Given the description of an element on the screen output the (x, y) to click on. 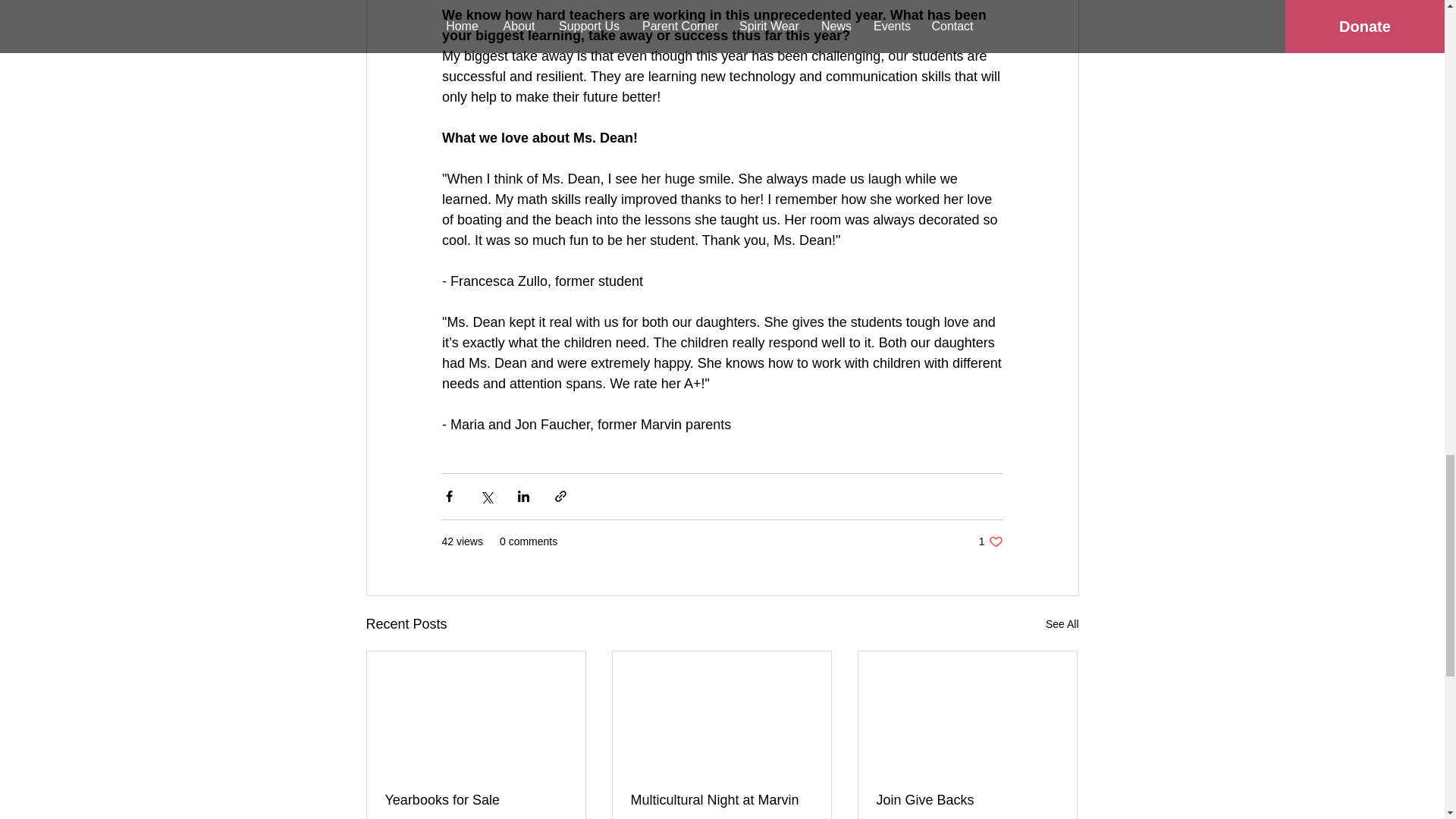
Multicultural Night at Marvin (721, 800)
Join Give Backs (967, 800)
See All (1061, 624)
Yearbooks for Sale (476, 800)
